Given the description of an element on the screen output the (x, y) to click on. 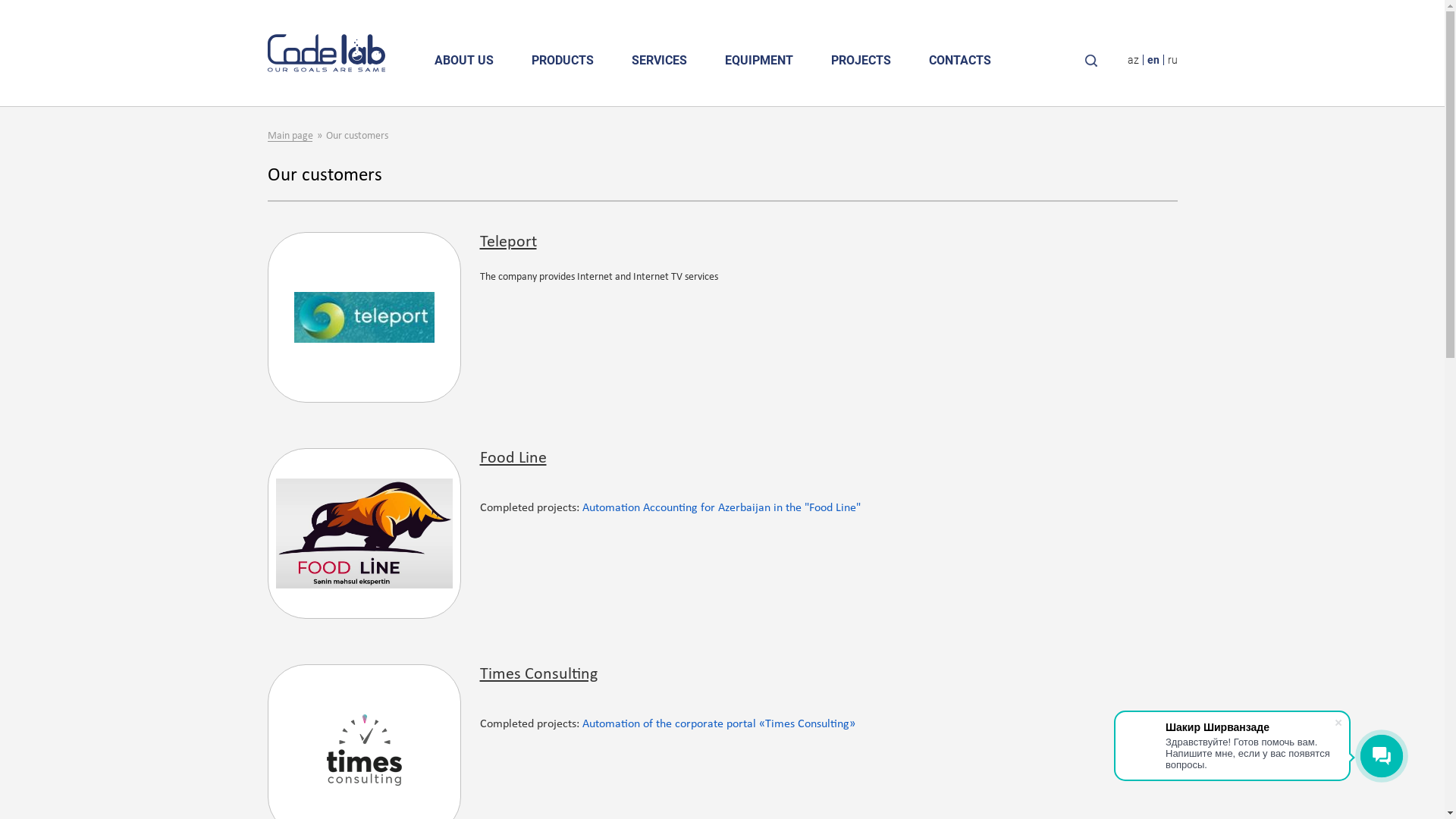
SERVICES Element type: text (659, 60)
Times Consulting Element type: text (537, 674)
ABOUT US Element type: text (463, 60)
PRODUCTS Element type: text (562, 60)
az Element type: text (1132, 59)
EQUIPMENT Element type: text (758, 60)
Teleport Element type: text (507, 242)
Food Line Element type: text (512, 458)
en Element type: text (1152, 59)
ru Element type: text (1172, 59)
Main page Element type: text (295, 136)
PROJECTS Element type: text (860, 60)
CONTACTS Element type: text (960, 60)
Automation Accounting for Azerbaijan in the "Food Line" Element type: text (721, 508)
